Given the description of an element on the screen output the (x, y) to click on. 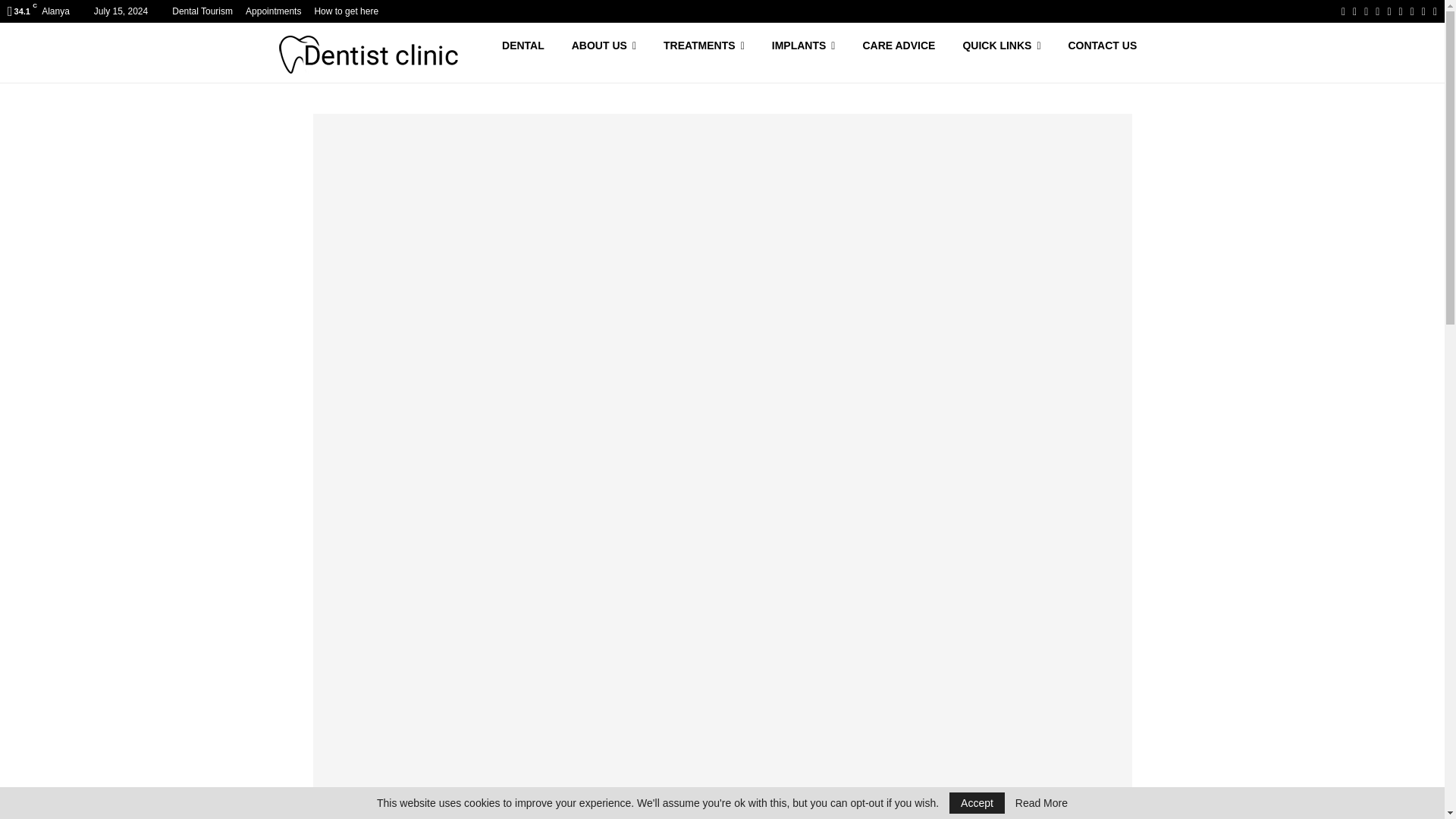
Youtube (1399, 11)
TREATMENTS (703, 52)
Pinterest (1376, 11)
Appointments (273, 11)
IMPLANTS (803, 52)
Facebook (1342, 11)
Twitter (1354, 11)
Youtube (1399, 11)
Pinterest (1376, 11)
Email (1411, 11)
Facebook (1342, 11)
Twitter (1354, 11)
Linkedin (1388, 11)
How to get here (346, 11)
Rss (1423, 11)
